Given the description of an element on the screen output the (x, y) to click on. 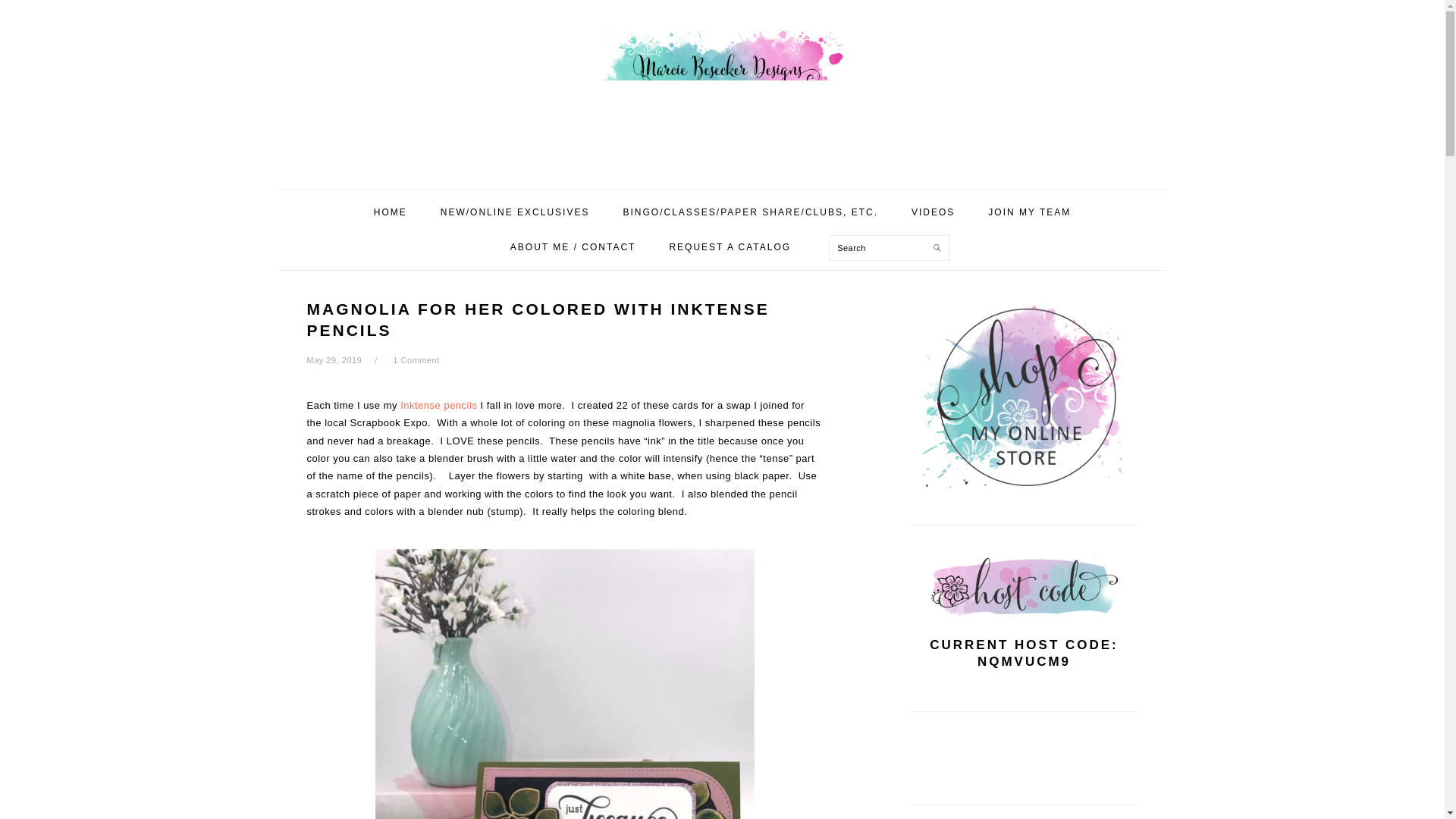
JOIN MY TEAM (1029, 212)
VIDEOS (933, 212)
HOME (390, 212)
MARCIE BESECKER DESIGNS (721, 89)
REQUEST A CATALOG (729, 247)
1 Comment (416, 359)
Inktense pencils (438, 405)
